Given the description of an element on the screen output the (x, y) to click on. 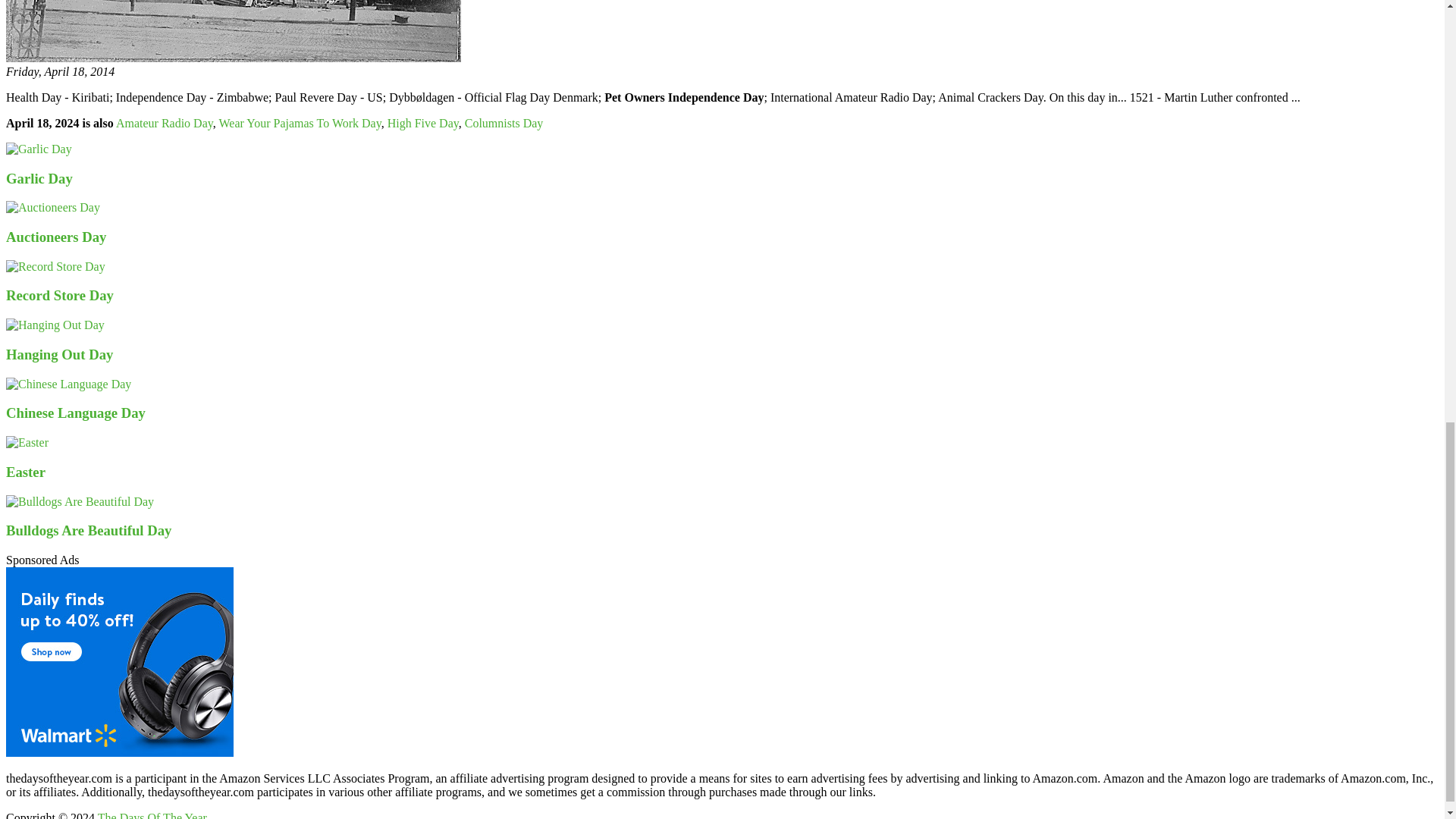
Garlic Day (38, 178)
Chinese Language Day (75, 412)
Wear Your Pajamas To Work Day (299, 123)
Auctioneers Day (55, 236)
Columnists Day (503, 123)
Record Store Day (59, 295)
Easter (25, 471)
Hanging Out Day (59, 354)
Bulldogs Are Beautiful Day (88, 530)
High Five Day (422, 123)
